Given the description of an element on the screen output the (x, y) to click on. 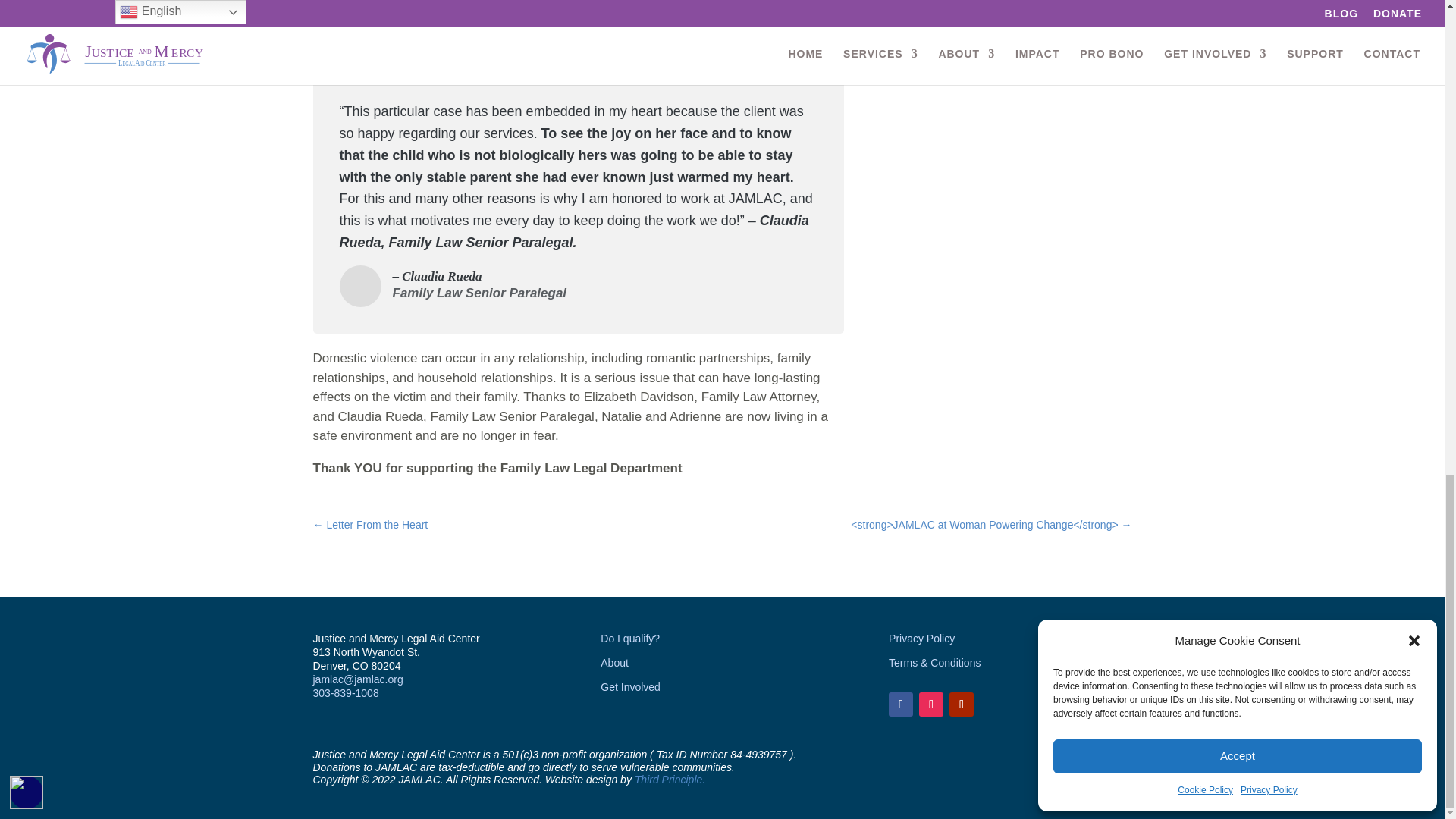
Follow on Facebook (900, 704)
Follow on Youtube (961, 704)
Follow on Instagram (930, 704)
